Given the description of an element on the screen output the (x, y) to click on. 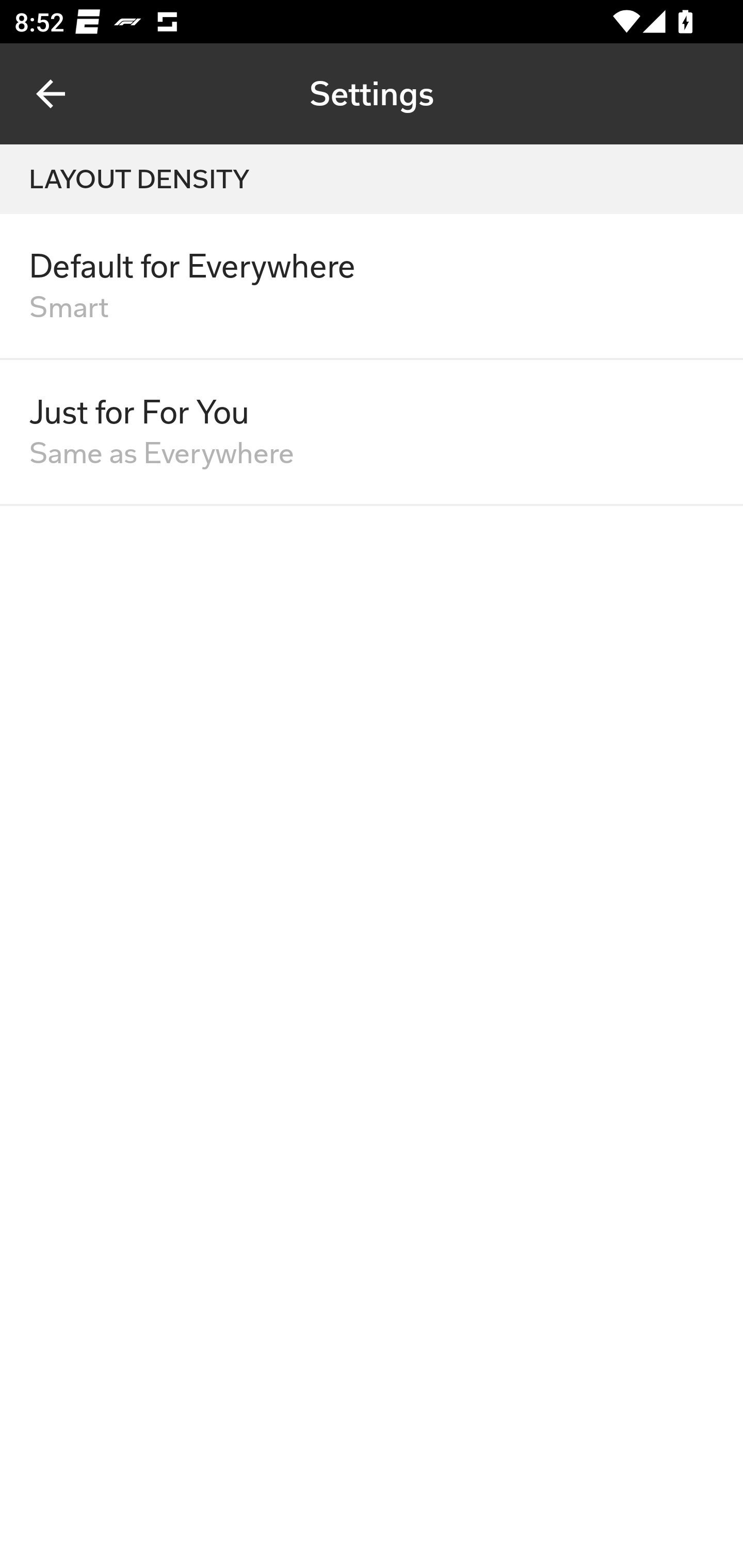
Back (50, 93)
LAYOUT DENSITY (371, 179)
Default for Everywhere Smart (371, 286)
Just for For You Same as Everywhere (371, 432)
